Given the description of an element on the screen output the (x, y) to click on. 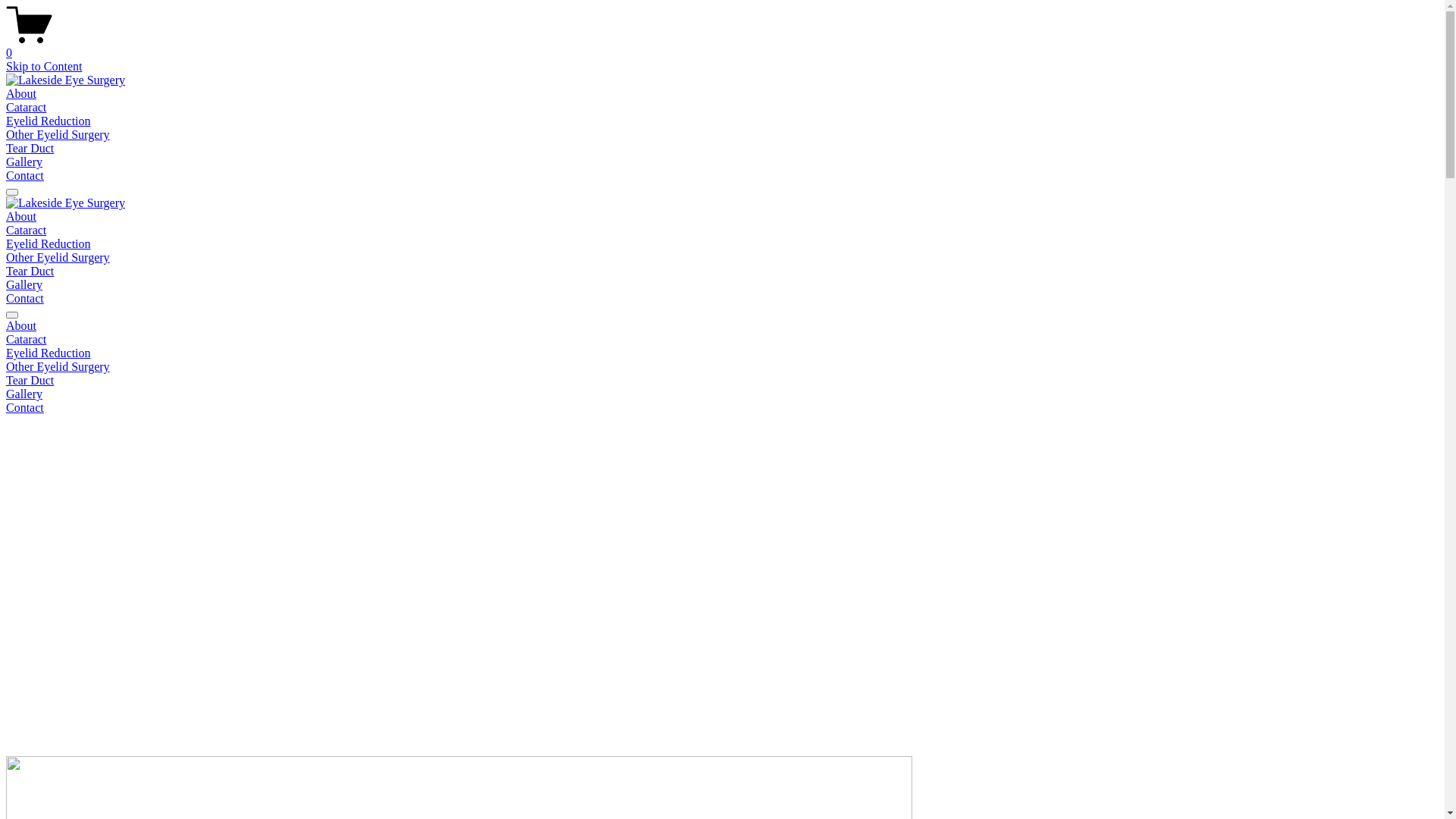
Tear Duct Element type: text (29, 270)
Contact Element type: text (722, 407)
Other Eyelid Surgery Element type: text (722, 366)
Eyelid Reduction Element type: text (48, 243)
Cataract Element type: text (722, 339)
Gallery Element type: text (24, 161)
Tear Duct Element type: text (722, 380)
About Element type: text (21, 216)
Eyelid Reduction Element type: text (722, 353)
Contact Element type: text (24, 175)
Gallery Element type: text (722, 394)
About Element type: text (21, 93)
About Element type: text (722, 325)
0 Element type: text (722, 45)
Contact Element type: text (24, 297)
Skip to Content Element type: text (43, 65)
Eyelid Reduction Element type: text (48, 120)
Cataract Element type: text (26, 229)
Other Eyelid Surgery Element type: text (57, 134)
Cataract Element type: text (26, 106)
Other Eyelid Surgery Element type: text (57, 257)
Gallery Element type: text (24, 284)
Tear Duct Element type: text (29, 147)
